Given the description of an element on the screen output the (x, y) to click on. 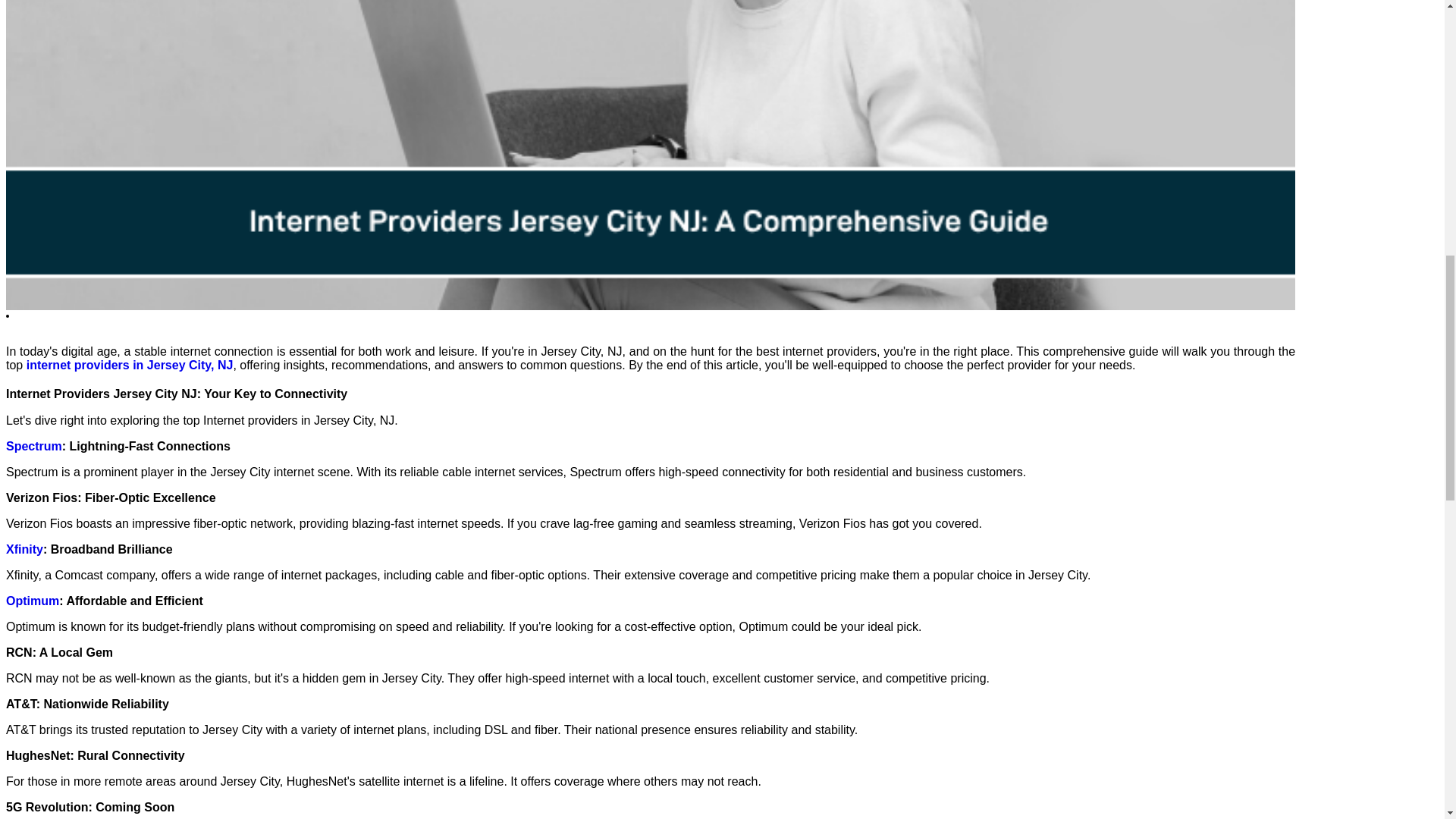
Spectrum (33, 445)
internet providers in Jersey City, NJ (129, 364)
Xfinity (24, 549)
